Given the description of an element on the screen output the (x, y) to click on. 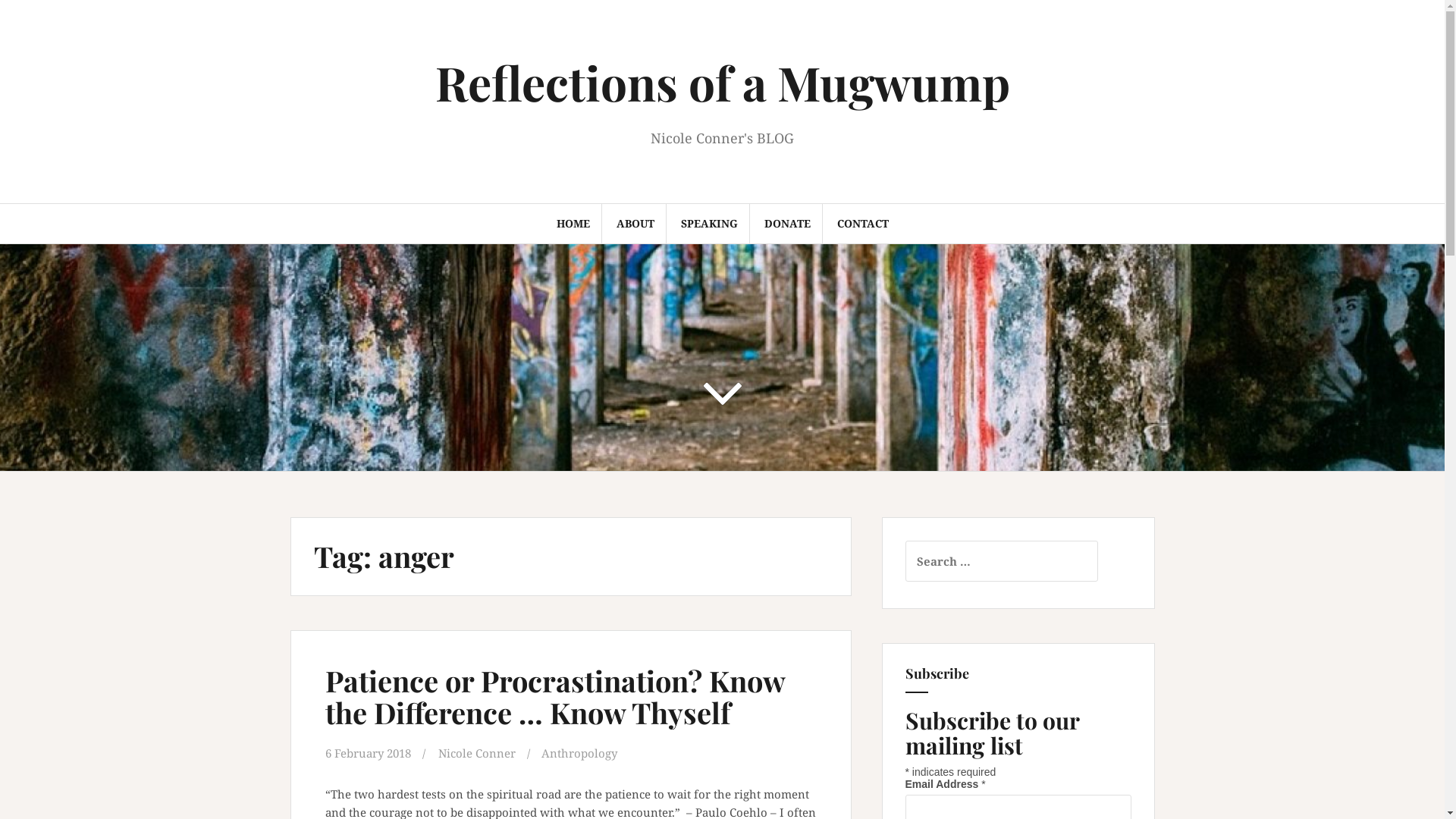
DONATE Element type: text (787, 223)
Search Element type: text (31, 20)
SPEAKING Element type: text (708, 223)
Reflections of a Mugwump Element type: text (722, 81)
Anthropology Element type: text (579, 752)
ABOUT Element type: text (634, 223)
Nicole Conner Element type: text (476, 752)
HOME Element type: text (572, 223)
CONTACT Element type: text (862, 223)
6 February 2018 Element type: text (367, 752)
